Given the description of an element on the screen output the (x, y) to click on. 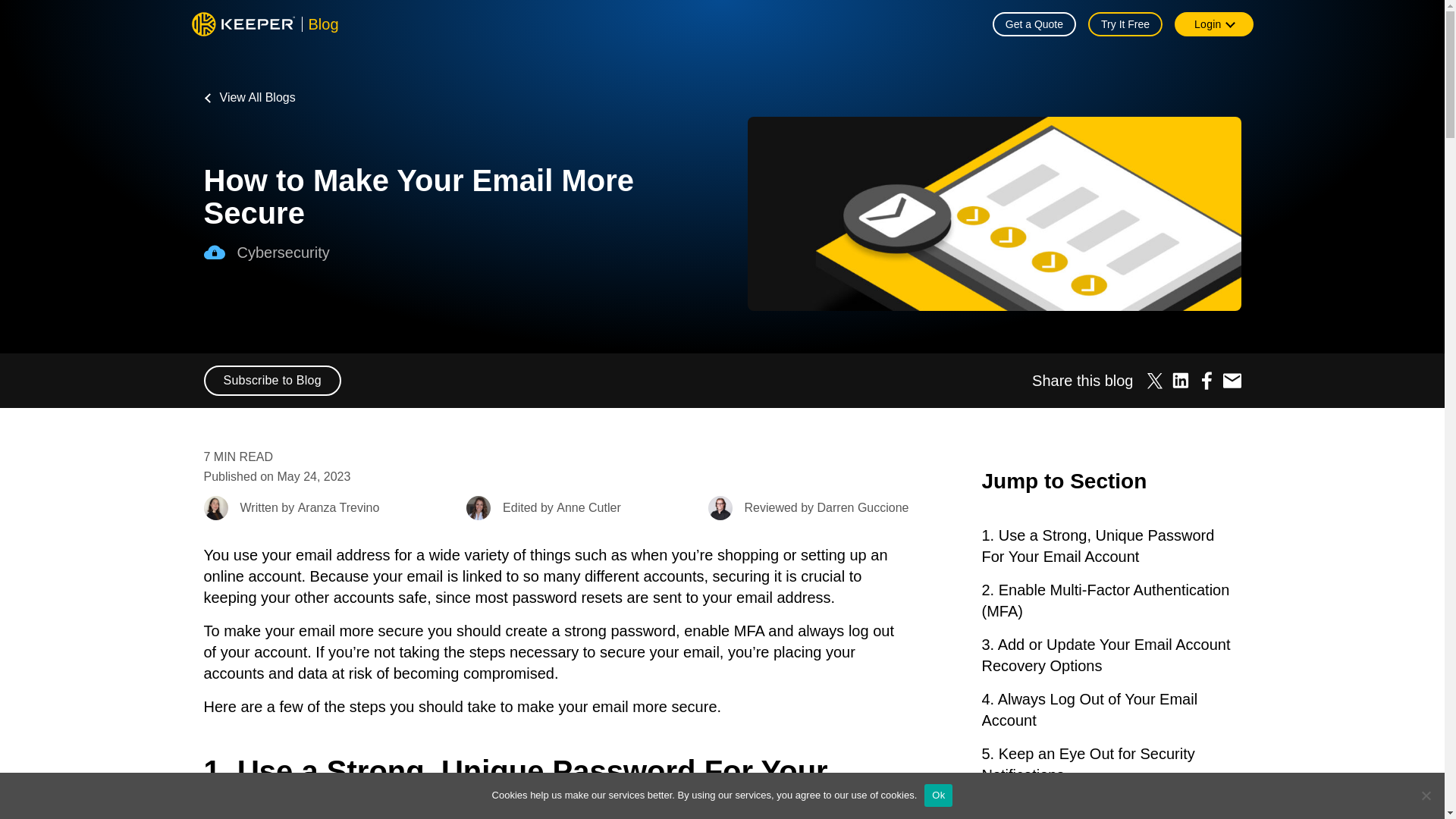
Cybersecurity (459, 251)
Keeper (242, 24)
Written by Aranza Trevino (290, 508)
Anne Cutler (477, 508)
Get a Quote (1033, 24)
Try It Free (1124, 24)
5. Keep an Eye Out for Security Notifications (1110, 763)
View All Blogs (249, 97)
Try It Free (1124, 24)
Get a Quote (1033, 24)
Cybersecurity (213, 251)
4. Always Log Out of Your Email Account (1110, 709)
Reviewed by Darren Guccione (807, 508)
Edited by Anne Cutler (543, 508)
Keeper (242, 24)
